Given the description of an element on the screen output the (x, y) to click on. 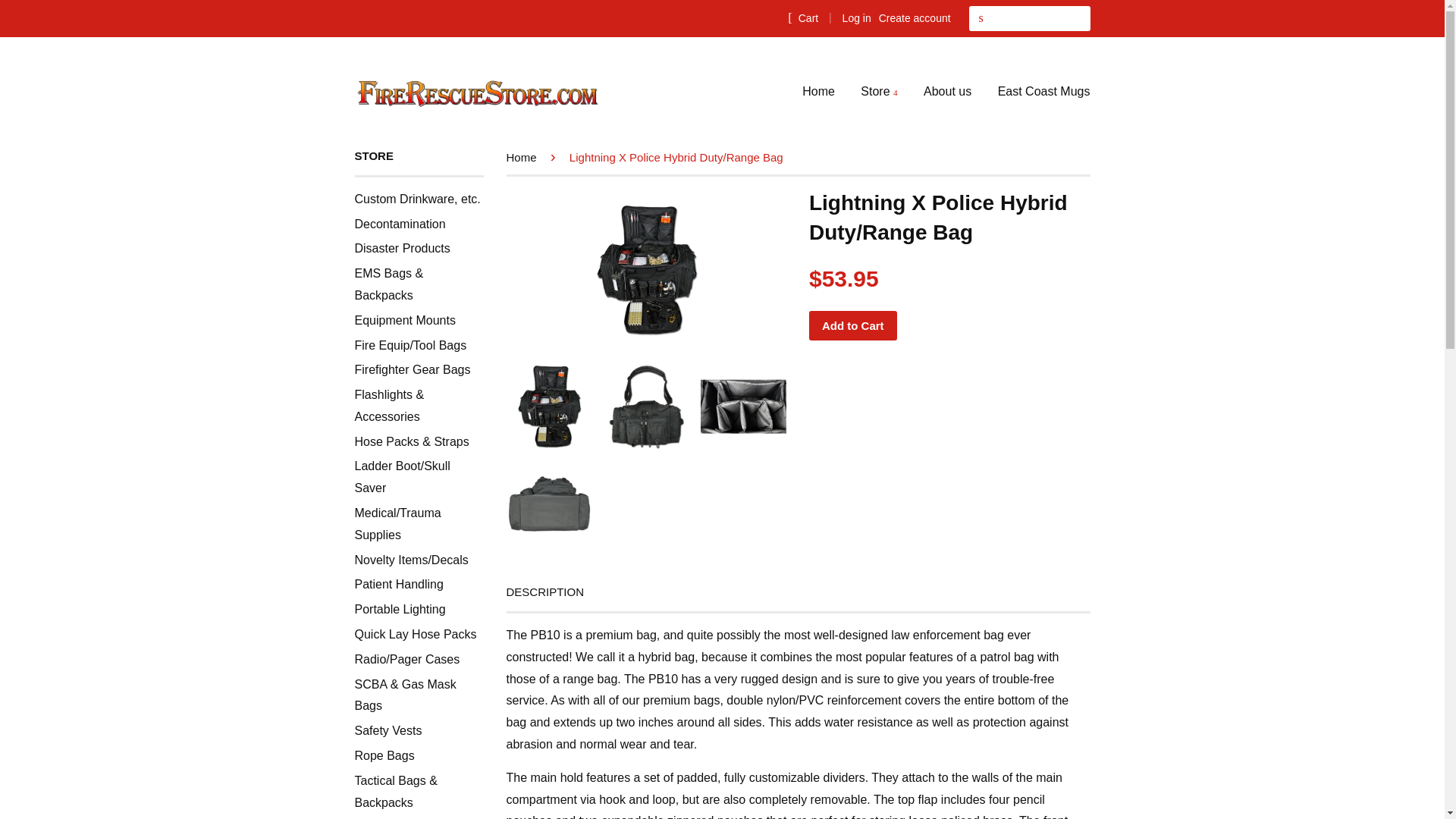
Search (980, 18)
Log in (856, 18)
Back to the frontpage (523, 156)
Create account (914, 18)
Cart (802, 17)
